Given the description of an element on the screen output the (x, y) to click on. 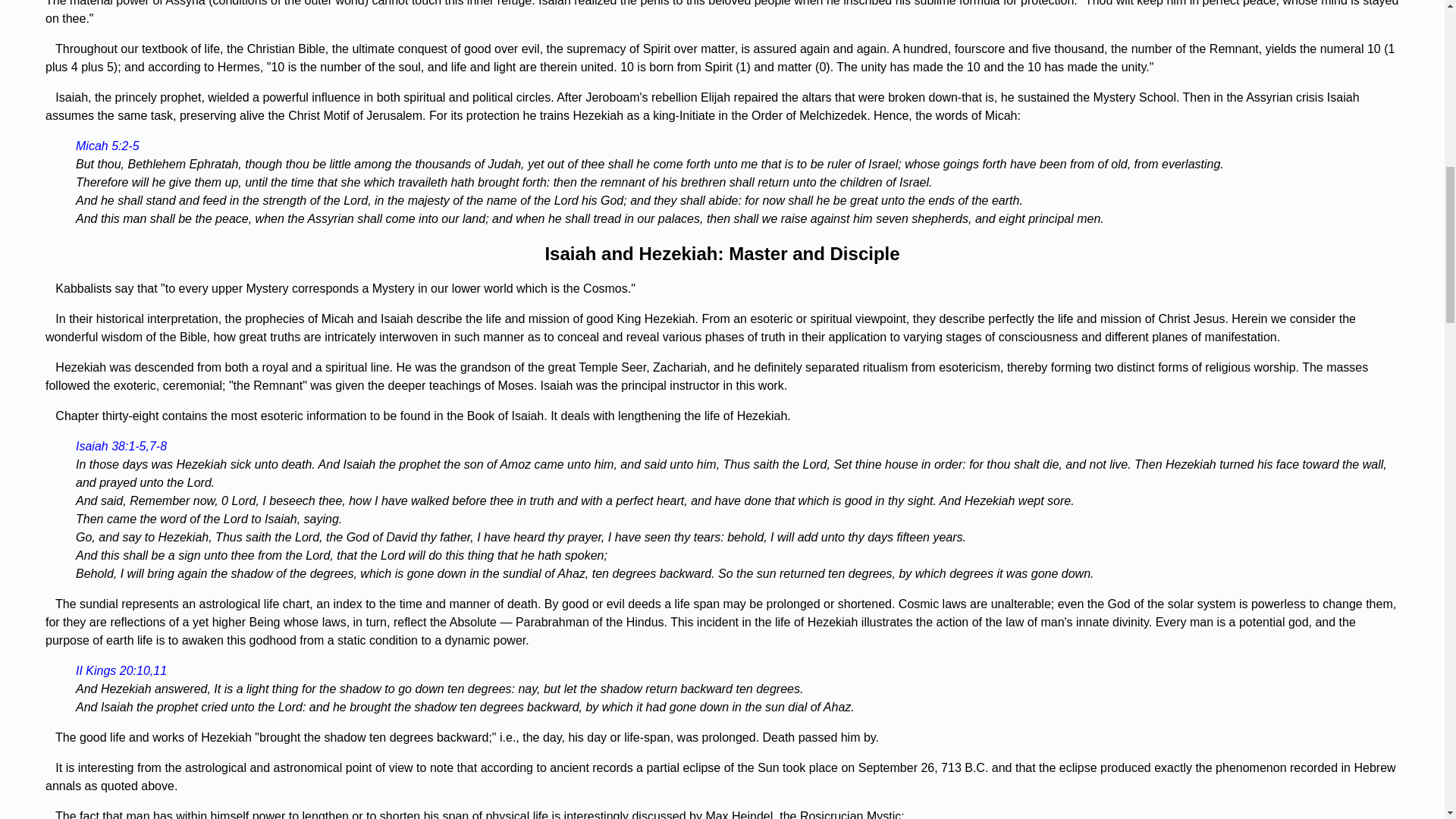
Micah 5:2-5 (107, 145)
Isaiah 38:1-5,7-8 (121, 445)
II Kings 20:10,11 (121, 670)
